Given the description of an element on the screen output the (x, y) to click on. 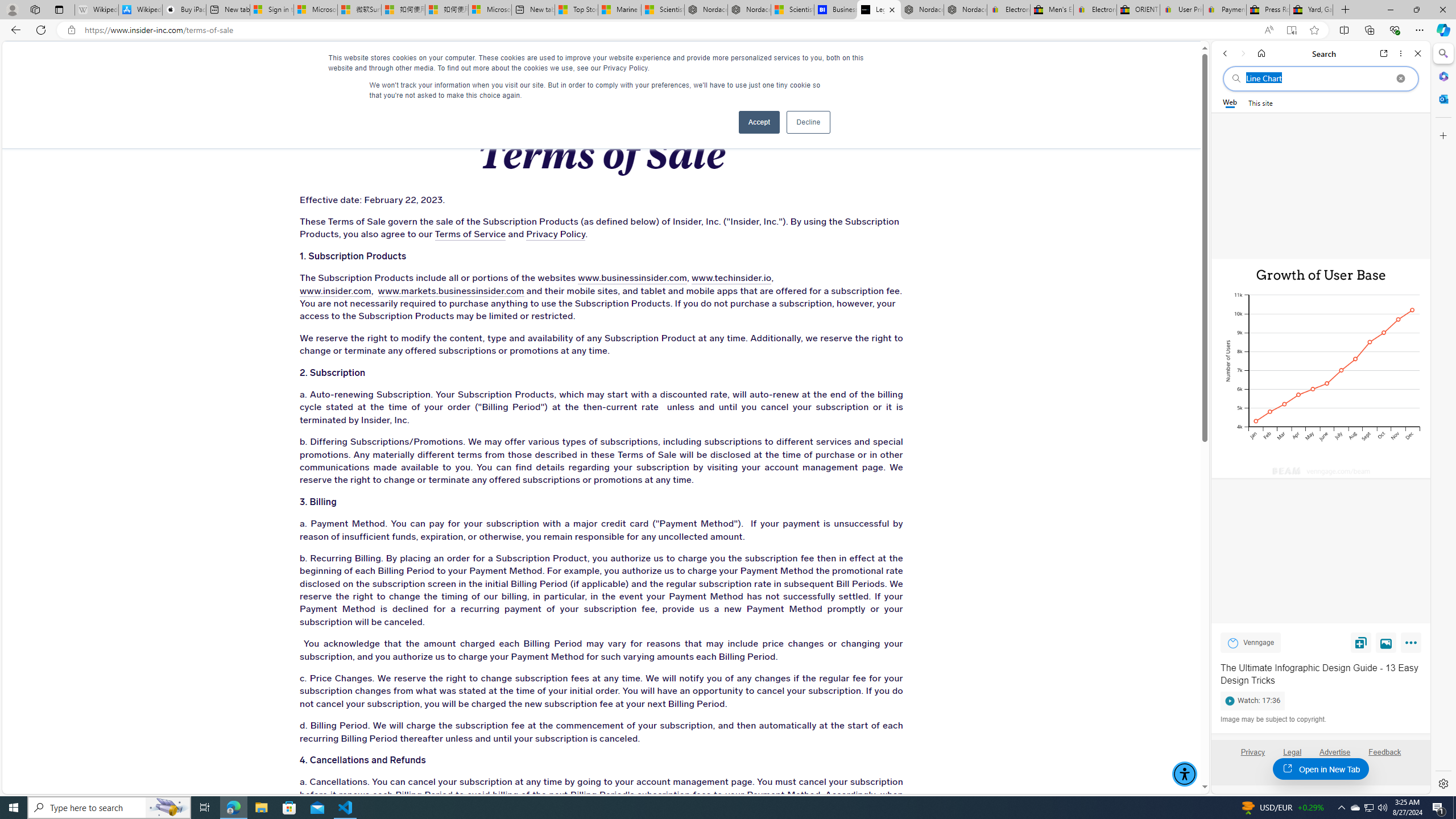
www.businessinsider.com (632, 278)
Insider Inc. (601, 62)
www.techinsider.io (731, 278)
